Given the description of an element on the screen output the (x, y) to click on. 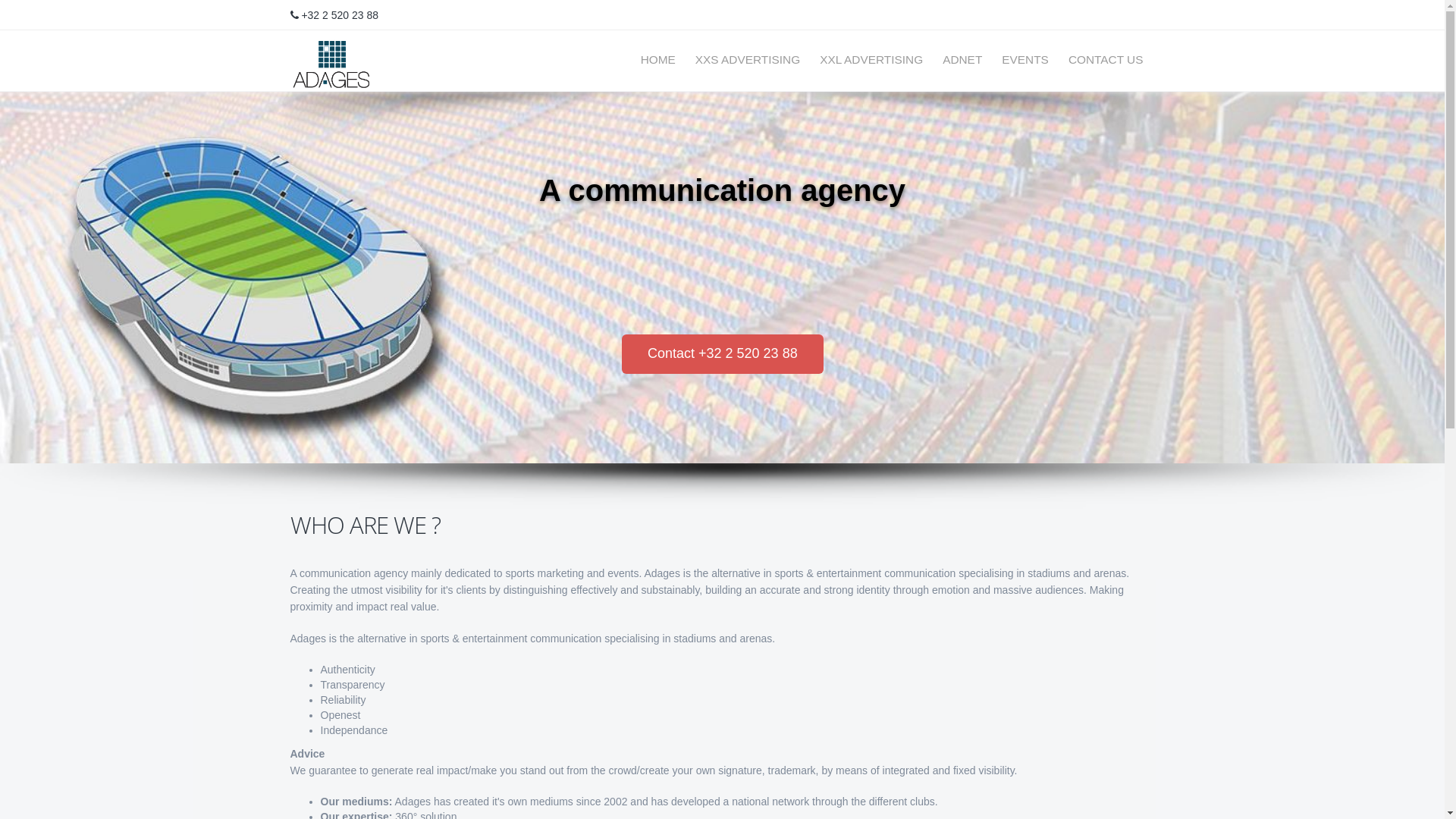
ADNET Element type: text (962, 59)
XXL ADVERTISING Element type: text (871, 59)
Contact +32 2 520 23 88 Element type: text (722, 353)
HOME Element type: text (658, 59)
CONTACT US Element type: text (1100, 59)
XXS ADVERTISING Element type: text (747, 59)
EVENTS Element type: text (1025, 59)
